Given the description of an element on the screen output the (x, y) to click on. 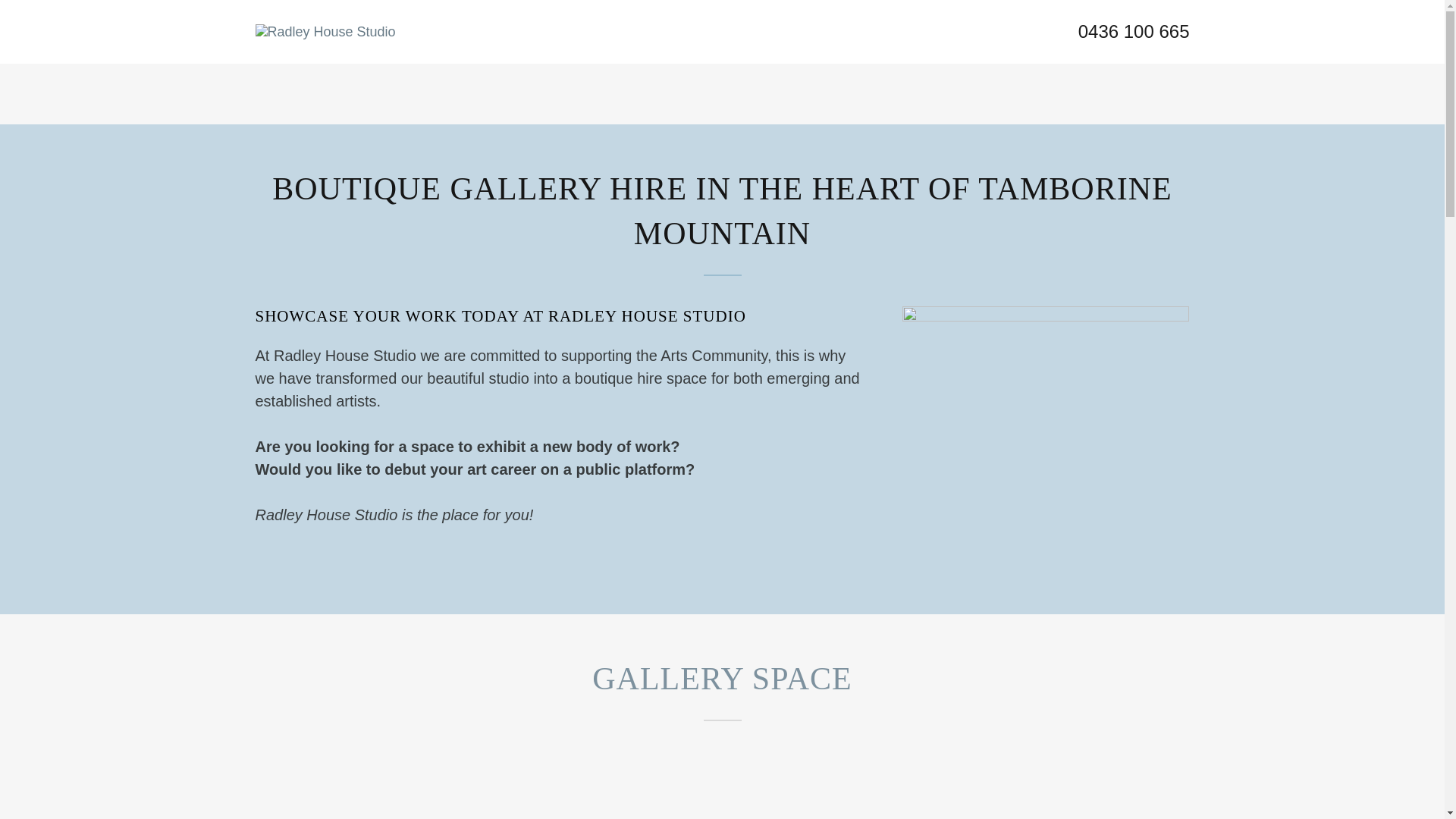
Radley House Studio (324, 30)
0436 100 665 (1133, 31)
